Given the description of an element on the screen output the (x, y) to click on. 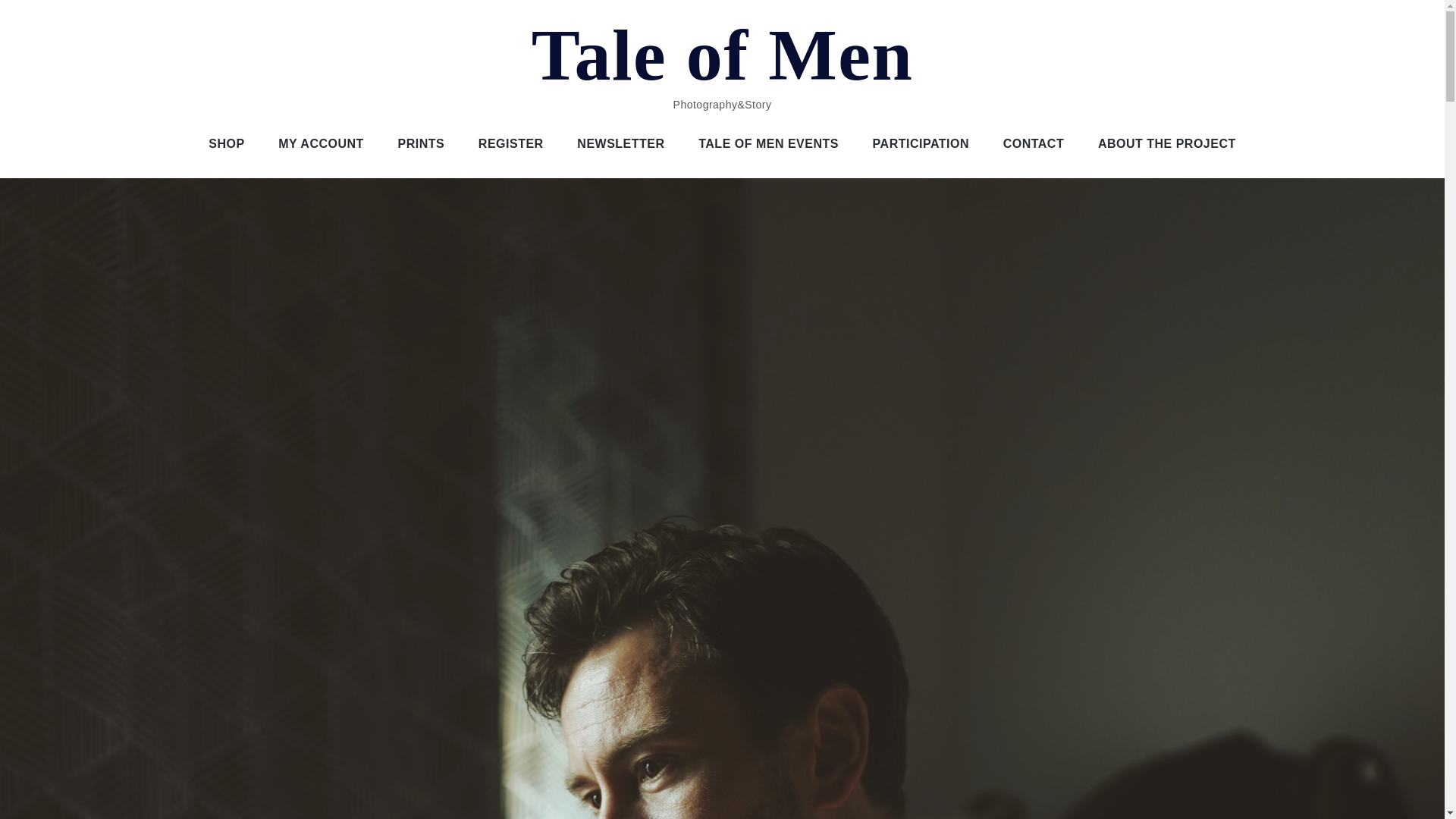
MY ACCOUNT (320, 143)
PARTICIPATION (920, 143)
TALE OF MEN EVENTS (767, 143)
NEWSLETTER (620, 143)
PRINTS (421, 143)
SHOP (226, 143)
CONTACT (1034, 143)
ABOUT THE PROJECT (1166, 143)
REGISTER (511, 143)
Tale of Men (722, 54)
